Given the description of an element on the screen output the (x, y) to click on. 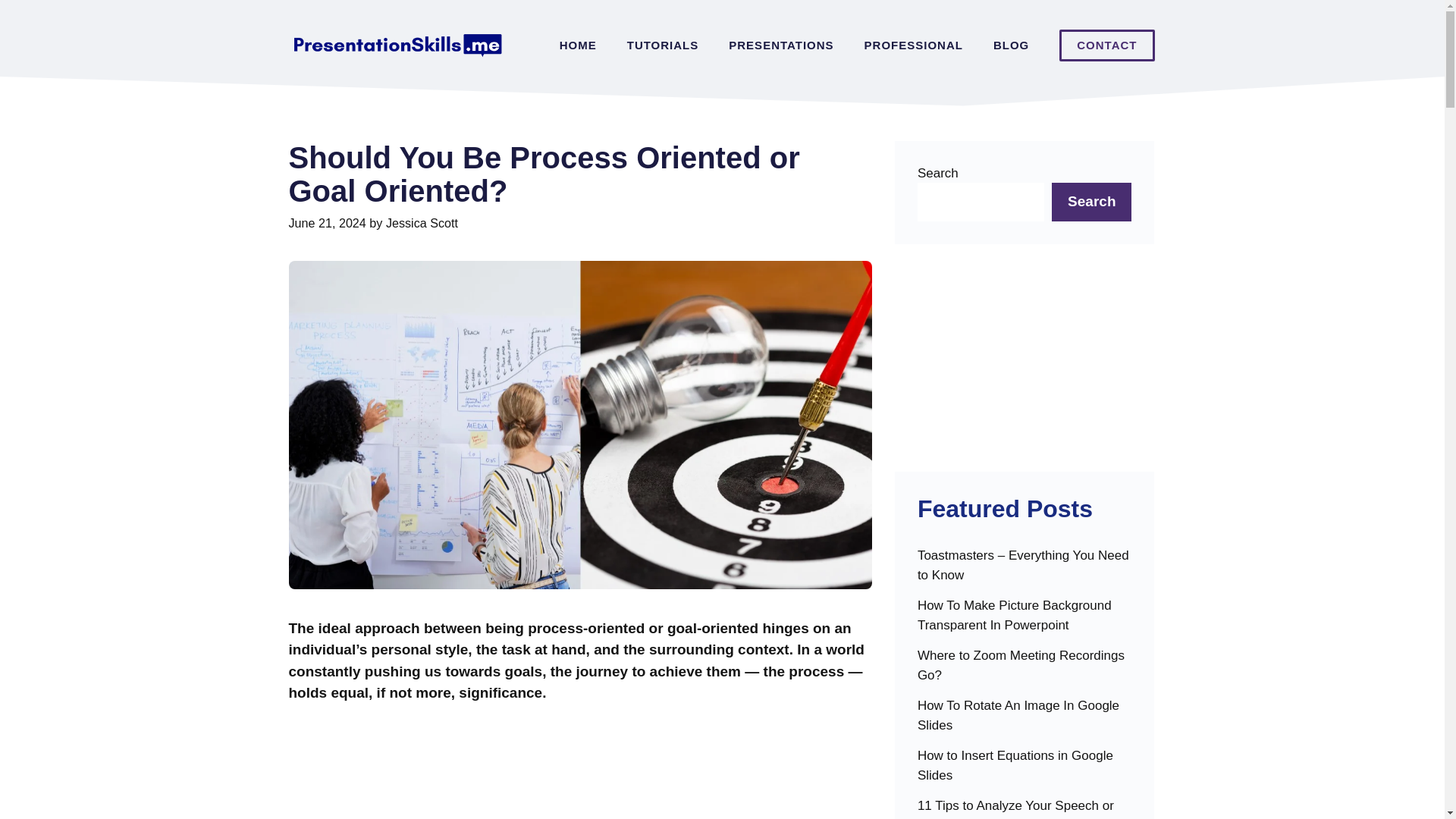
TUTORIALS (662, 44)
HOME (577, 44)
PRESENTATIONS (780, 44)
Where to Zoom Meeting Recordings Go? (1024, 671)
Search (1091, 201)
View all posts by Jessica Scott (421, 223)
CONTACT (1106, 45)
Jessica Scott (421, 223)
How To Make Picture Background Transparent In Powerpoint (1024, 621)
PROFESSIONAL (913, 44)
BLOG (1010, 44)
